Given the description of an element on the screen output the (x, y) to click on. 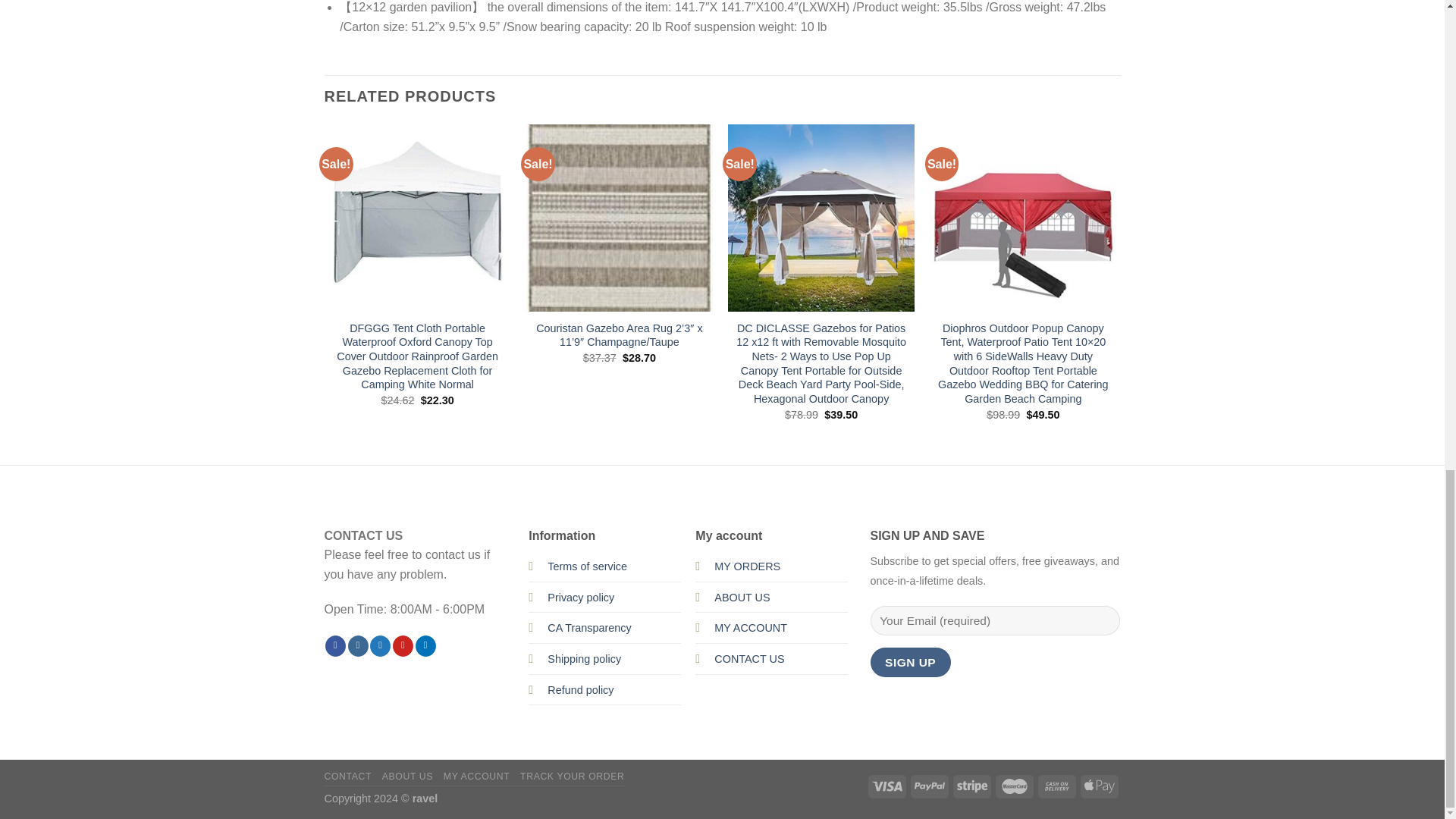
Sign Up (910, 662)
